Given the description of an element on the screen output the (x, y) to click on. 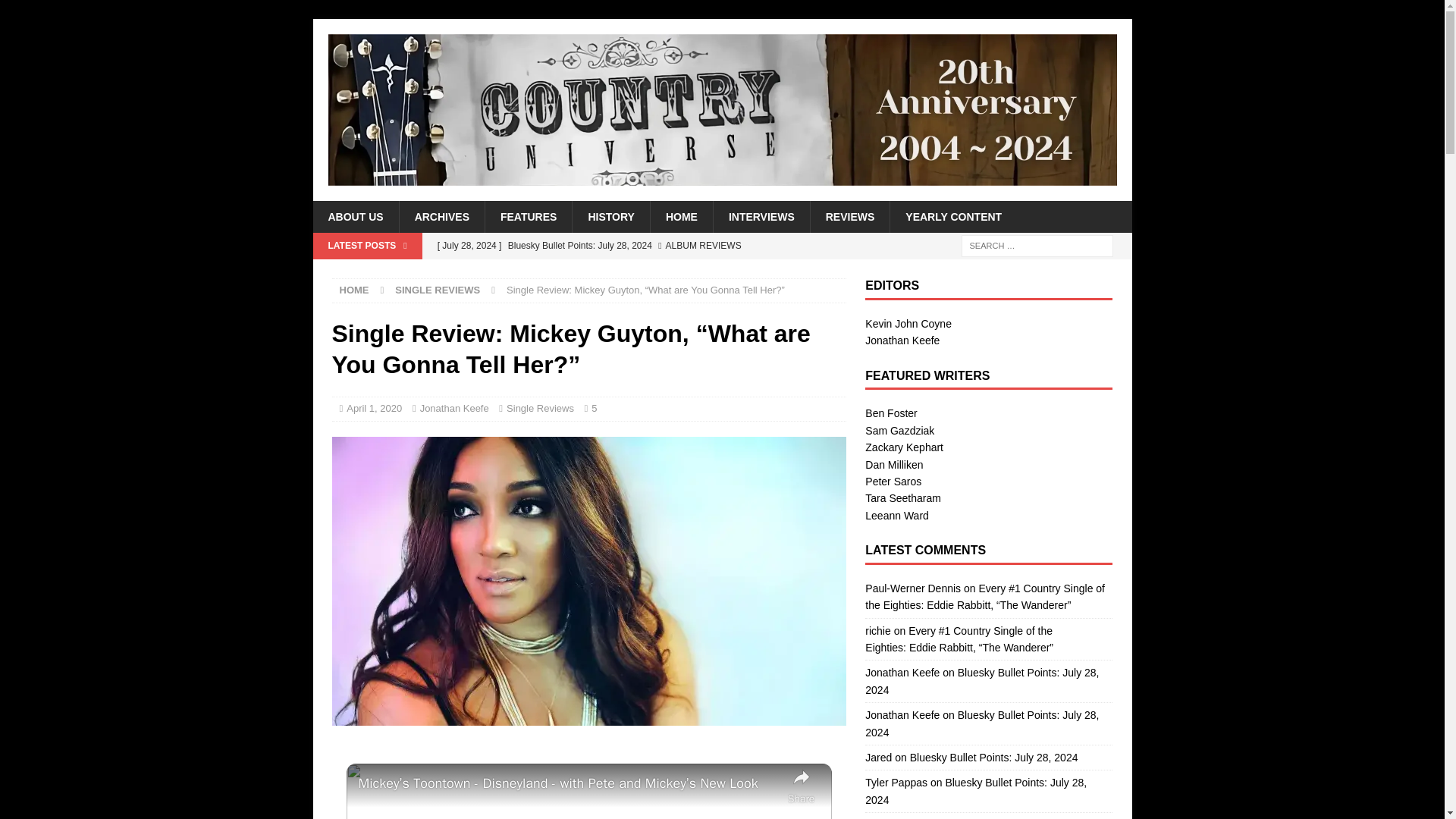
Bluesky Bullet Points: July 28, 2024 (637, 245)
ABOUT US (355, 216)
ARCHIVES (441, 216)
INTERVIEWS (761, 216)
FEATURES (528, 216)
HOME (681, 216)
HISTORY (610, 216)
REVIEWS (849, 216)
